Given the description of an element on the screen output the (x, y) to click on. 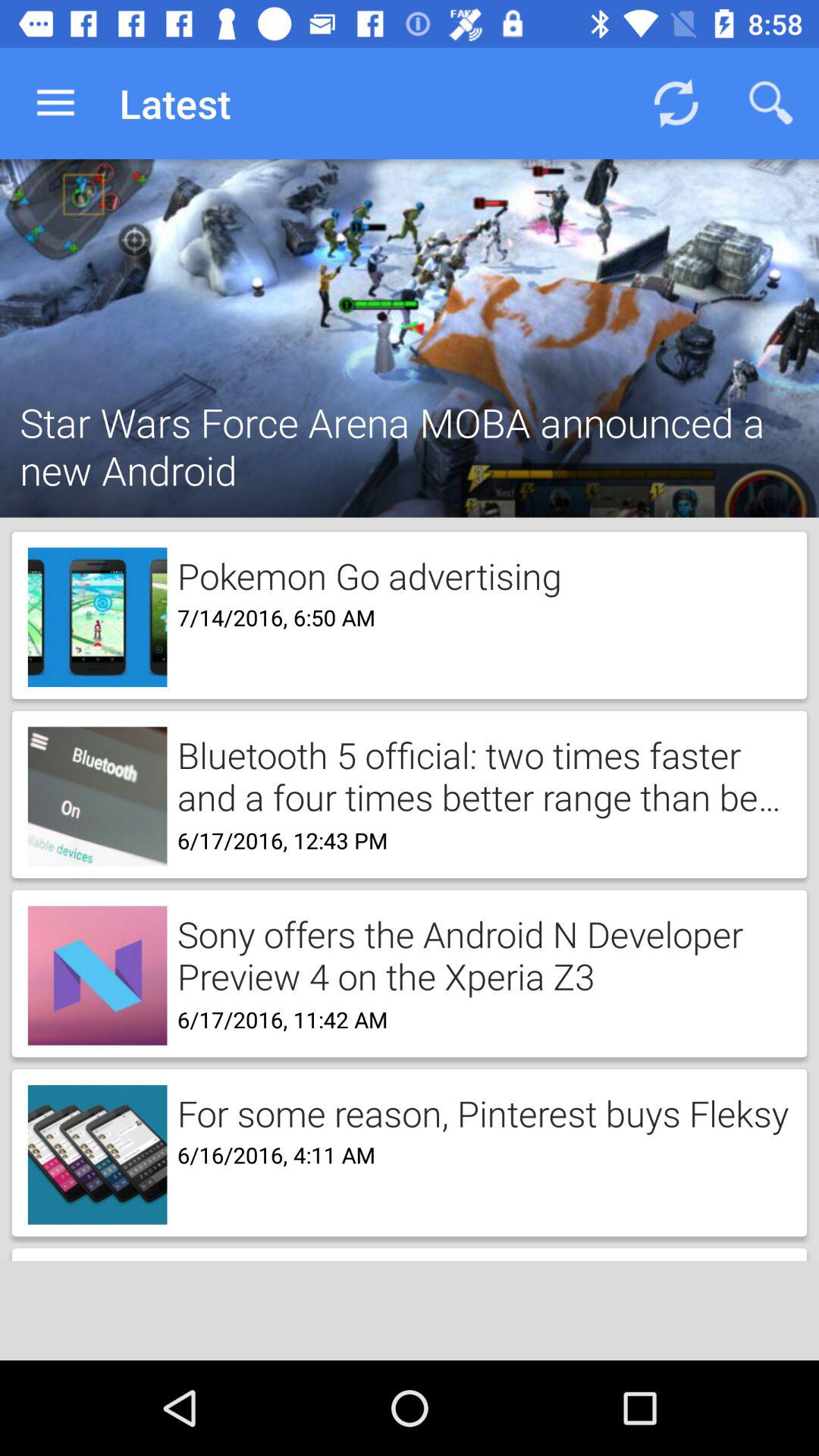
launch the sony offers the item (479, 954)
